Given the description of an element on the screen output the (x, y) to click on. 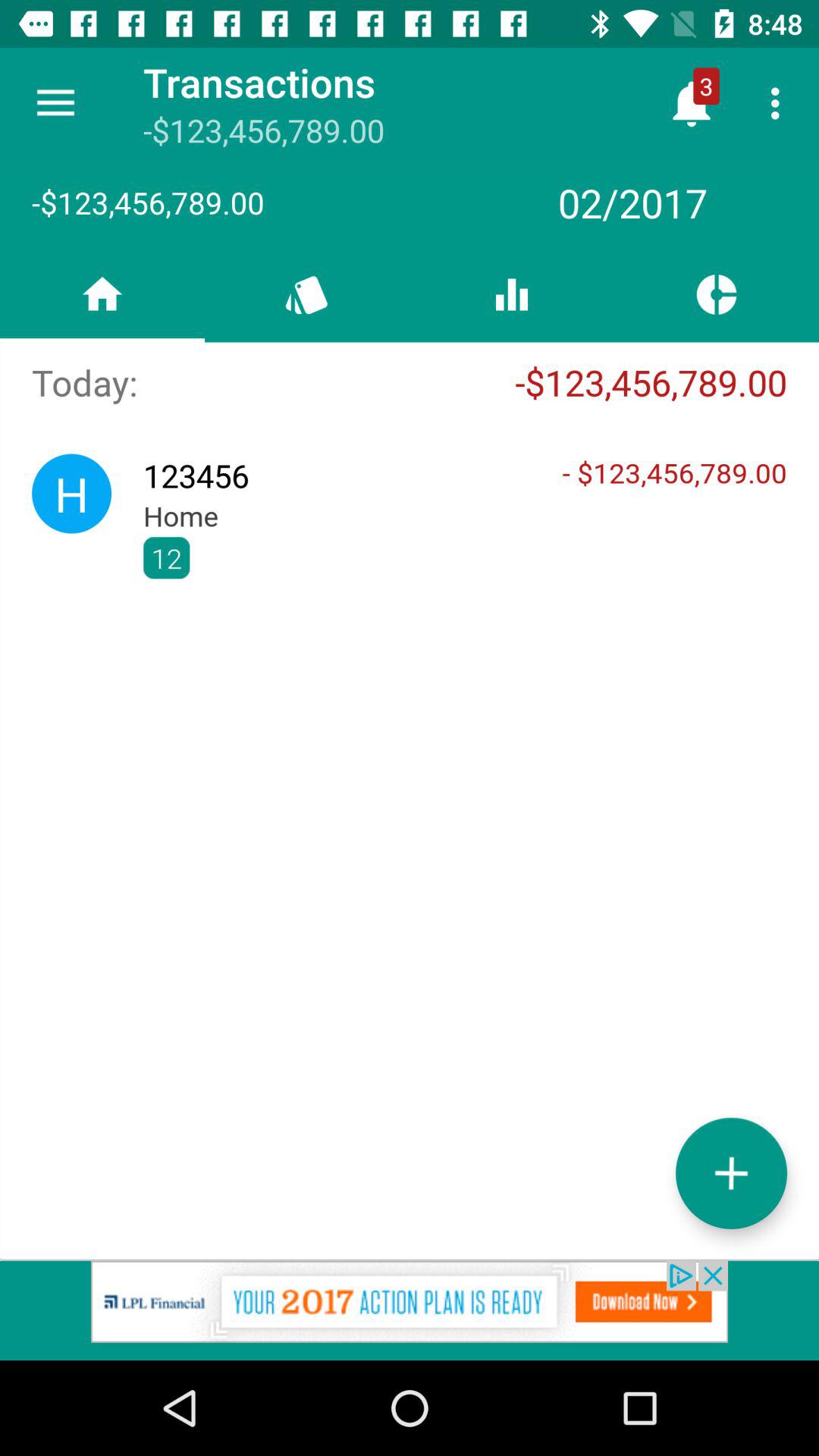
toggle add button (731, 1173)
